Given the description of an element on the screen output the (x, y) to click on. 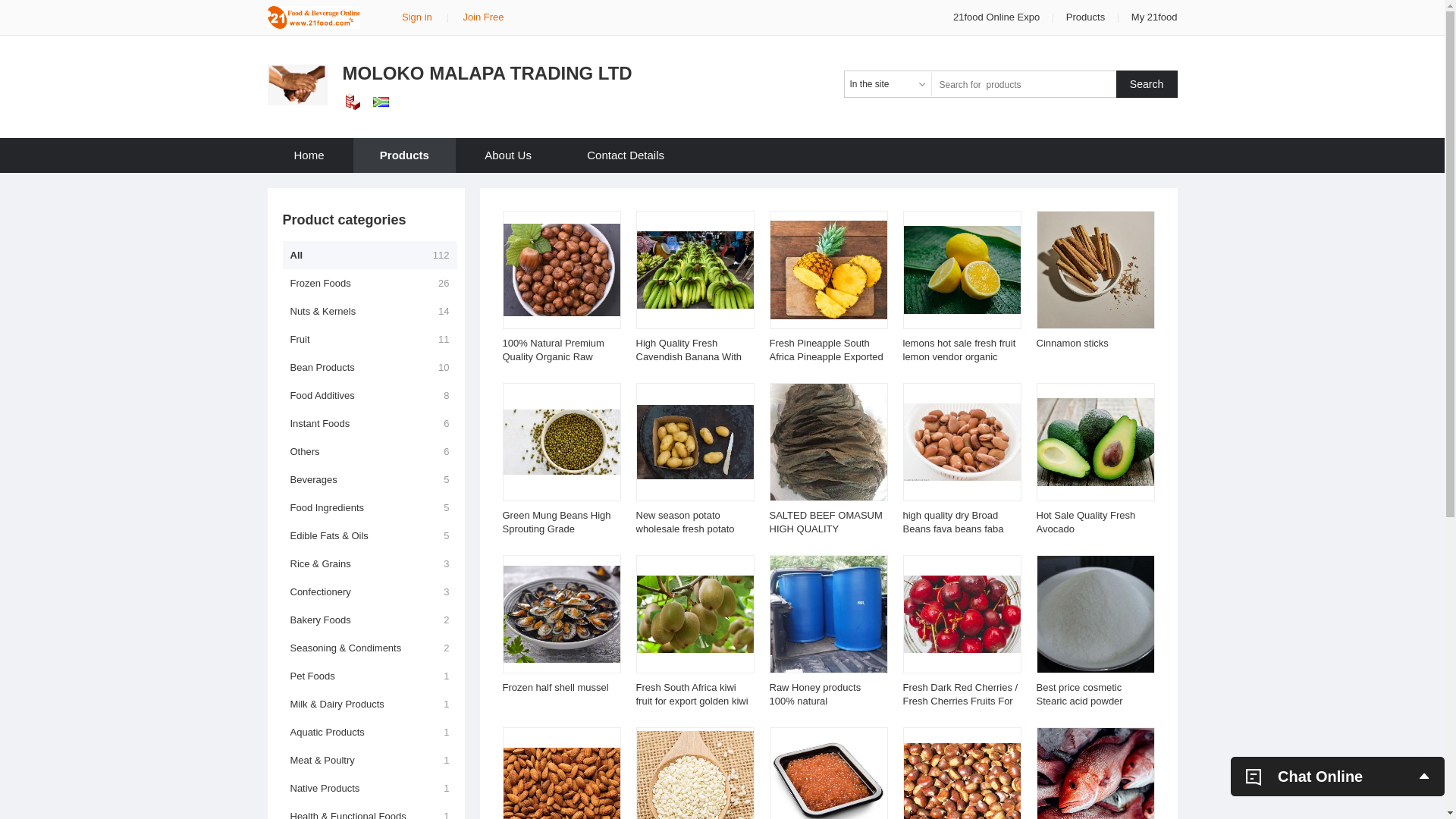
high quality dry Broad Beans fava beans faba beans price Element type: text (952, 528)
High Quality Fresh Cavendish Banana With Premium Quality Element type: text (687, 356)
New season potato wholesale fresh potato Element type: text (684, 521)
Green Mung Beans High Sprouting Grade Element type: text (556, 521)
Search Element type: text (1146, 83)
My 21food Element type: text (1154, 16)
Best price cosmetic Stearic acid powder Element type: text (1078, 693)
Cinnamon sticks Element type: text (1071, 342)
Home Element type: text (308, 155)
Products Element type: text (404, 155)
Fresh Pineapple South Africa Pineapple Exported Element type: text (825, 349)
21food Online Expo Element type: text (997, 16)
Raw Honey products 100% natural Element type: text (814, 693)
Join Free Element type: text (482, 16)
Frozen half shell mussel Element type: text (555, 687)
Products Element type: text (1085, 16)
Fresh South Africa kiwi fruit for export golden kiwi Element type: text (691, 693)
About Us Element type: text (508, 155)
Hot Sale Quality Fresh Avocado Element type: text (1085, 521)
Sign in Element type: text (416, 16)
Contact Details Element type: text (625, 155)
SALTED BEEF OMASUM HIGH QUALITY Element type: text (824, 521)
Fresh Dark Red Cherries / Fresh Cherries Fruits For Sale Element type: text (959, 700)
